Given the description of an element on the screen output the (x, y) to click on. 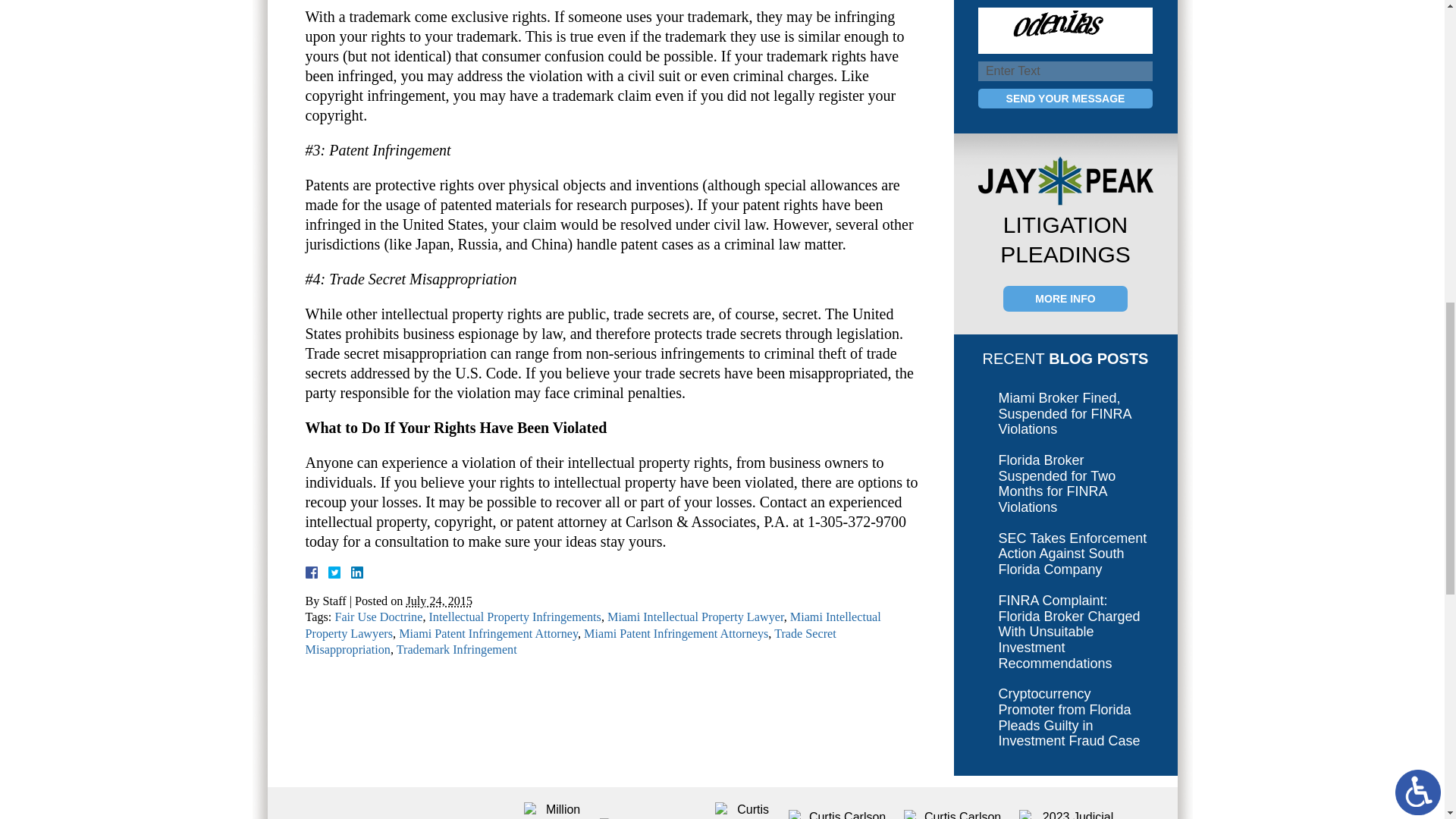
Enter Text (1065, 71)
2015-07-24T11:45:19-0700 (438, 601)
Jay Peak (1065, 180)
Send Your Message (1065, 98)
